Given the description of an element on the screen output the (x, y) to click on. 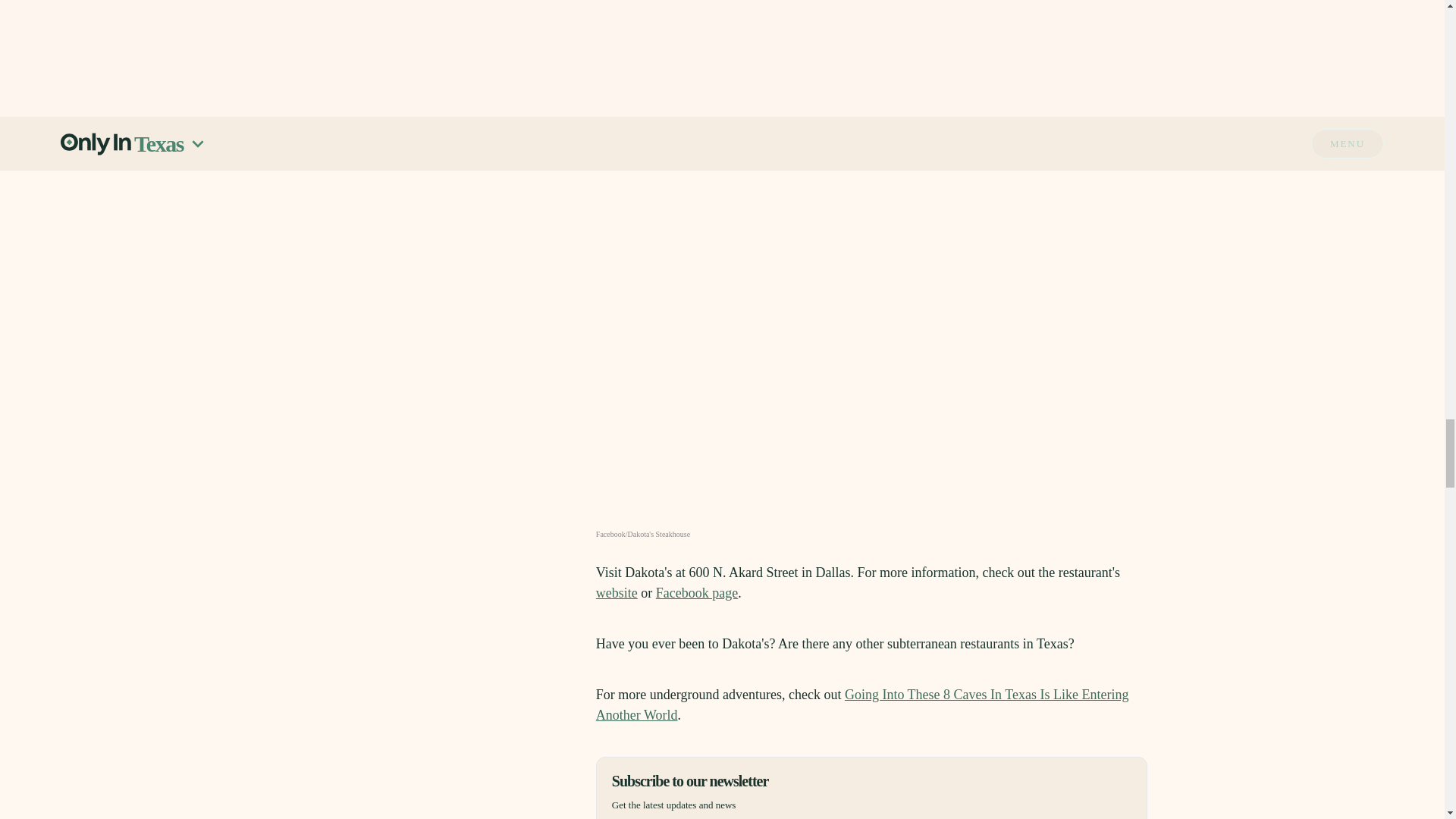
Facebook page (697, 592)
website (616, 592)
